Given the description of an element on the screen output the (x, y) to click on. 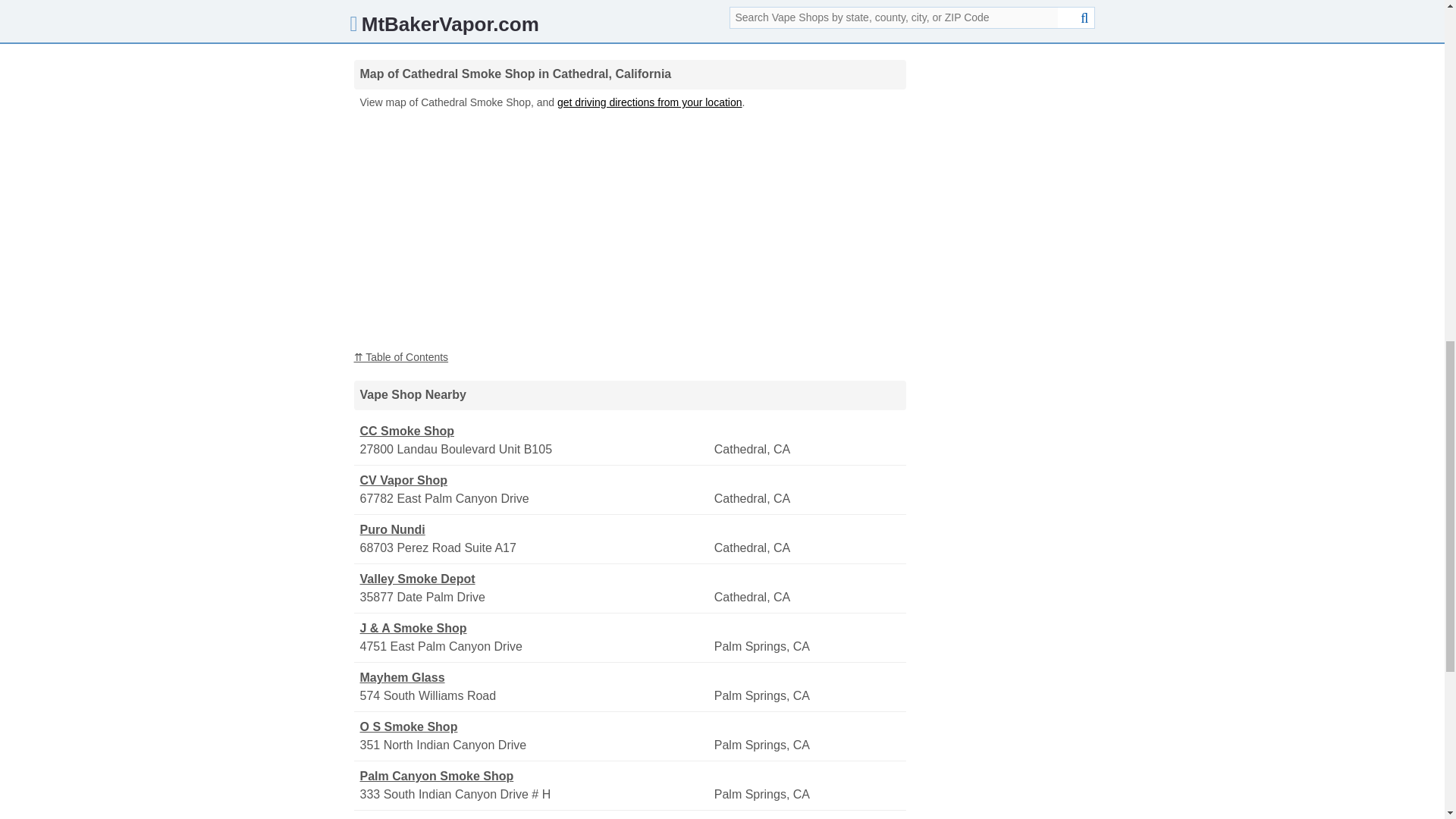
Palm Canyon Smoke Shop (534, 776)
Valley Smoke Depot in Cathedral, California (534, 579)
Puro Nundi in Cathedral, California (534, 529)
Mayhem Glass (534, 678)
CC Smoke Shop (534, 431)
Palm Canyon Smoke Shop in Palm Springs, California (534, 776)
Puro Nundi (534, 529)
CC Smoke Shop in Cathedral, California (534, 431)
